Given the description of an element on the screen output the (x, y) to click on. 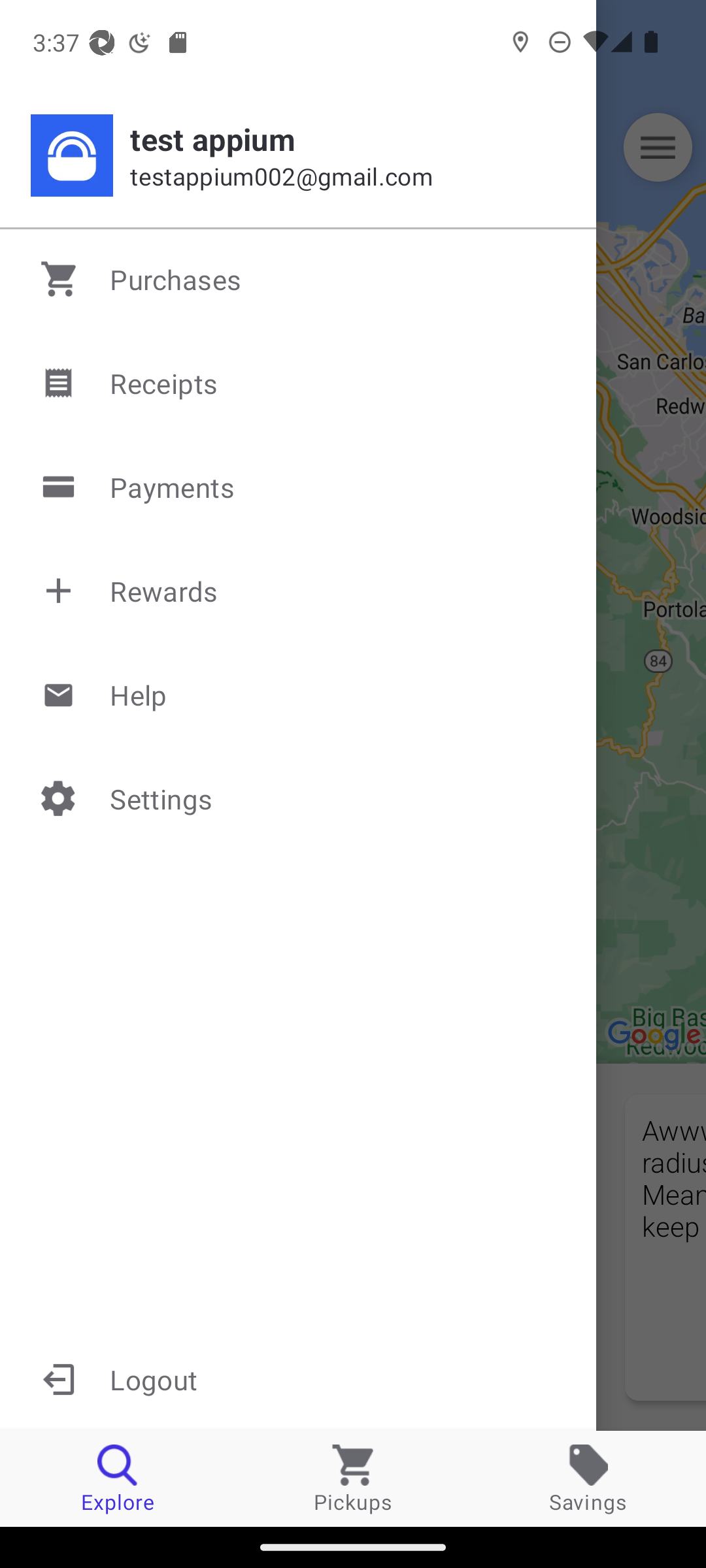
Purchases (299, 278)
Receipts (299, 382)
Payments (299, 487)
Rewards (299, 590)
Help (299, 694)
Settings (299, 797)
Logout (297, 1379)
Pickups (352, 1478)
Savings (588, 1478)
